Given the description of an element on the screen output the (x, y) to click on. 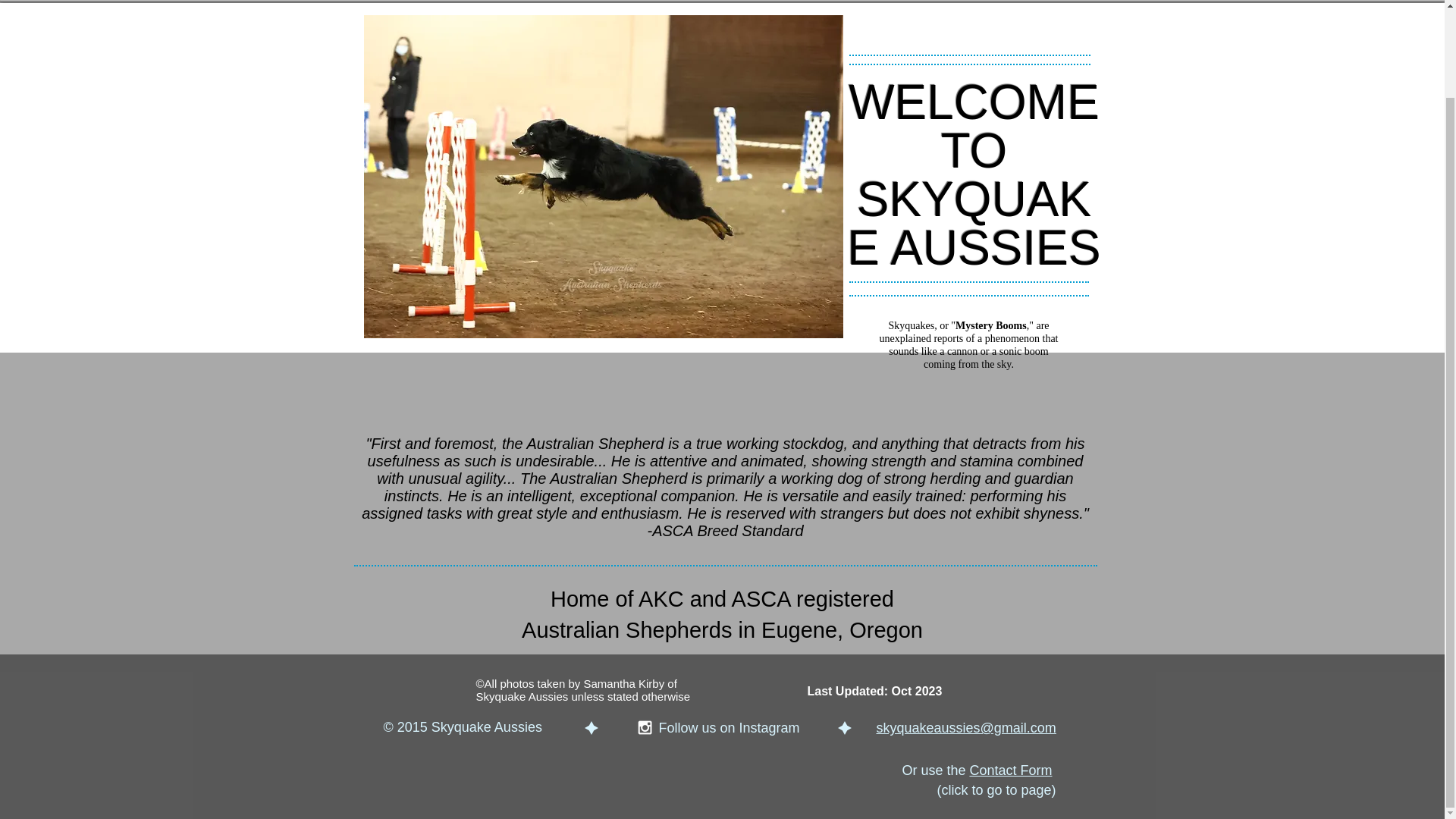
Contact Form (1010, 770)
